Given the description of an element on the screen output the (x, y) to click on. 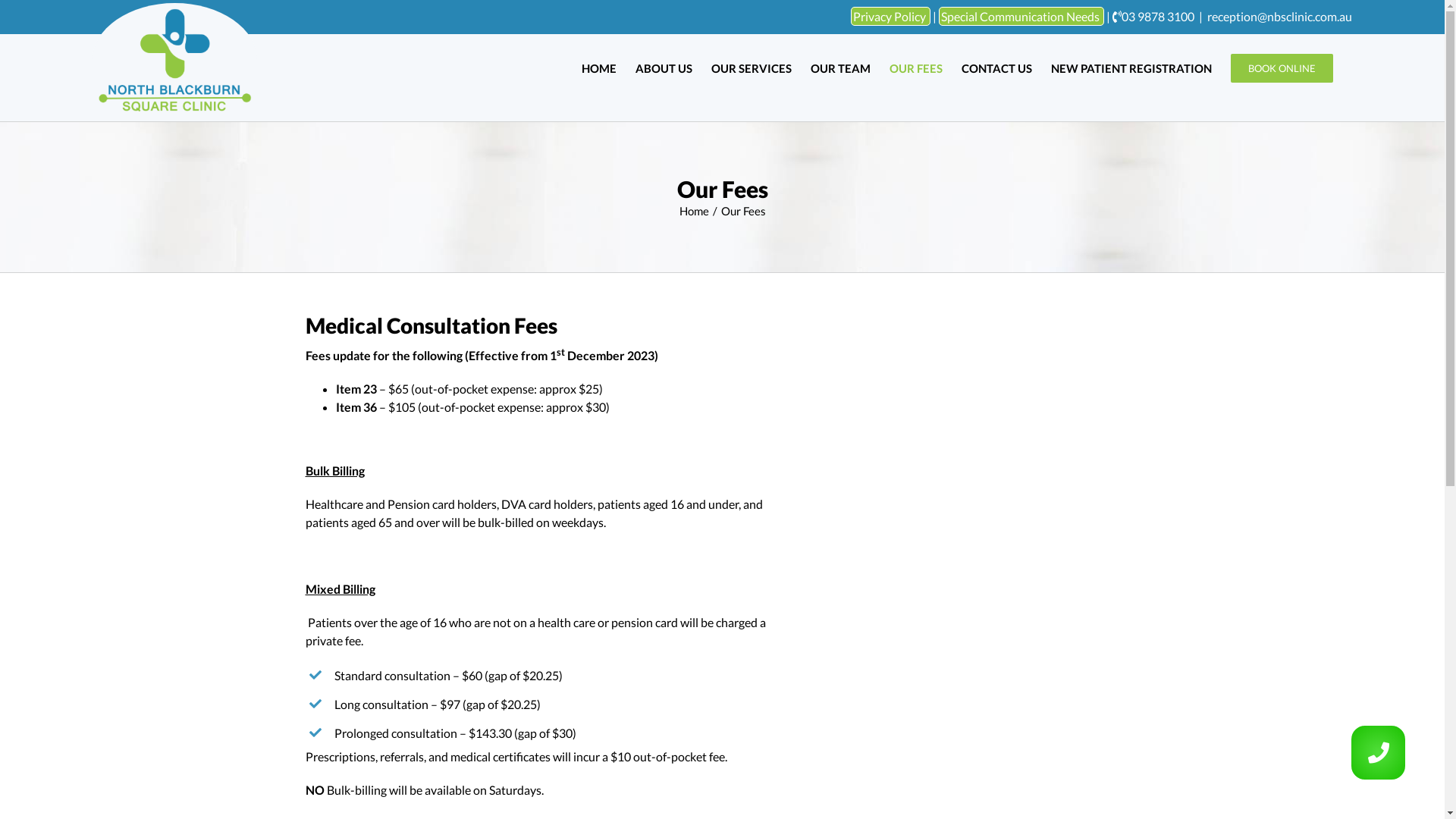
Home Element type: text (694, 210)
reception@nbsclinic.com.au Element type: text (1279, 16)
HOME Element type: text (598, 68)
CONTACT US Element type: text (996, 68)
OUR SERVICES Element type: text (751, 68)
North Blackburn Square Medical Centre Element type: hover (979, 404)
NEW PATIENT REGISTRATION Element type: text (1131, 68)
Privacy Policy Element type: text (890, 15)
BOOK ONLINE Element type: text (1281, 68)
OUR FEES Element type: text (915, 68)
ABOUT US Element type: text (663, 68)
Special Communication Needs Element type: text (1021, 15)
03 9878 3100 Element type: text (1157, 16)
OUR TEAM Element type: text (840, 68)
